Given the description of an element on the screen output the (x, y) to click on. 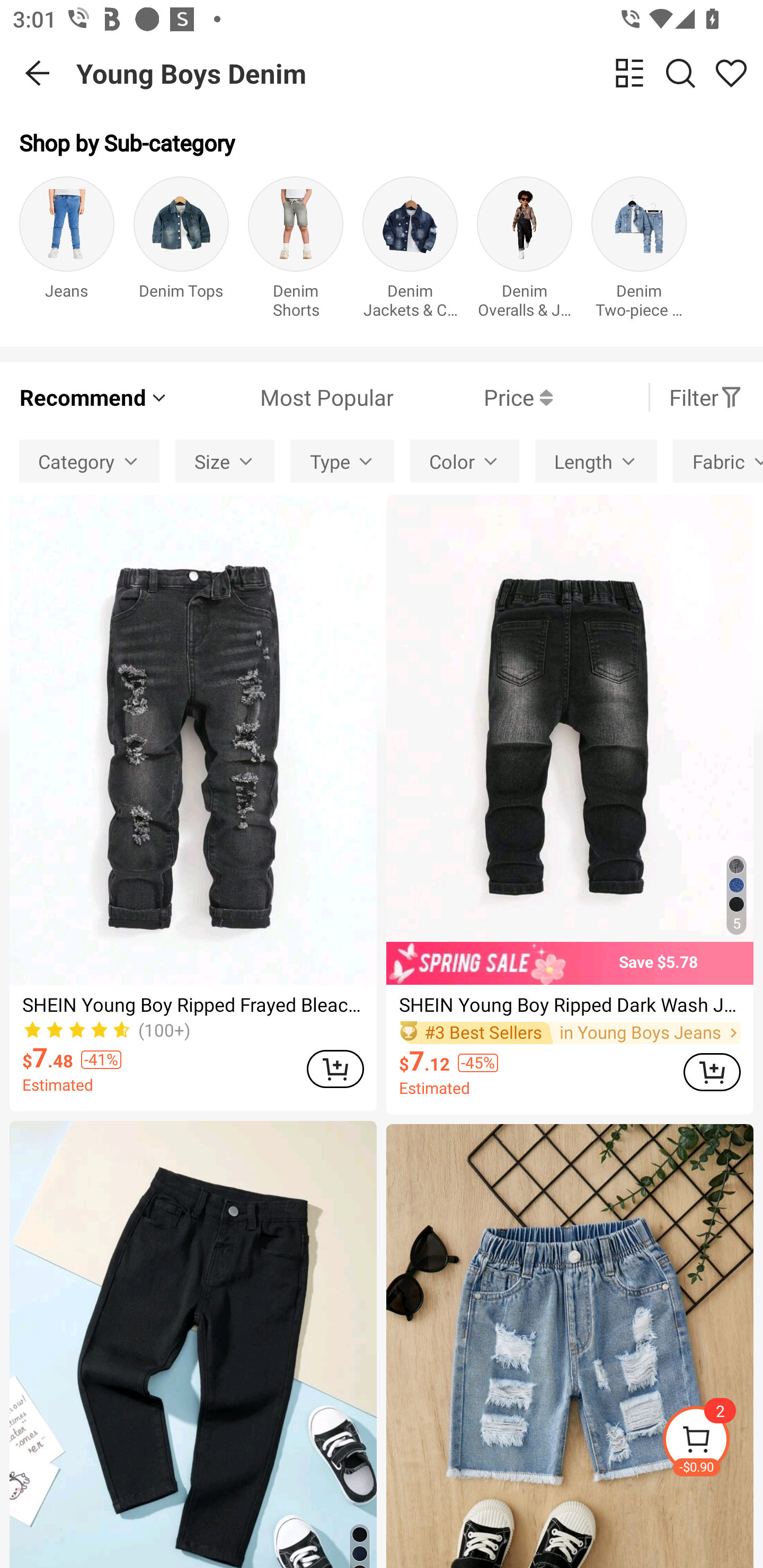
Young Boys Denim change view Search Share (419, 72)
change view (629, 72)
Search (679, 72)
Share (730, 72)
Jeans (66, 251)
Denim Tops (180, 251)
Denim Shorts (295, 251)
Denim Jackets & Coats (409, 251)
Denim Overalls & Jumpsuits (524, 251)
Denim Two-piece Outfits (638, 251)
Recommend (94, 397)
Most Popular (280, 397)
Price (472, 397)
Filter (705, 397)
Category (89, 460)
Size (224, 460)
Type (342, 460)
Color (464, 460)
Length (595, 460)
Fabric (717, 460)
#3 Best Sellers in Young Boys Jeans (569, 1032)
ADD TO CART (334, 1069)
ADD TO CART (711, 1072)
Young Boy Solid Tapered Jeans (192, 1344)
Toddler Boys Ripped Frayed Raw Hem Denim Shorts (569, 1346)
-$0.90 (712, 1441)
